Given the description of an element on the screen output the (x, y) to click on. 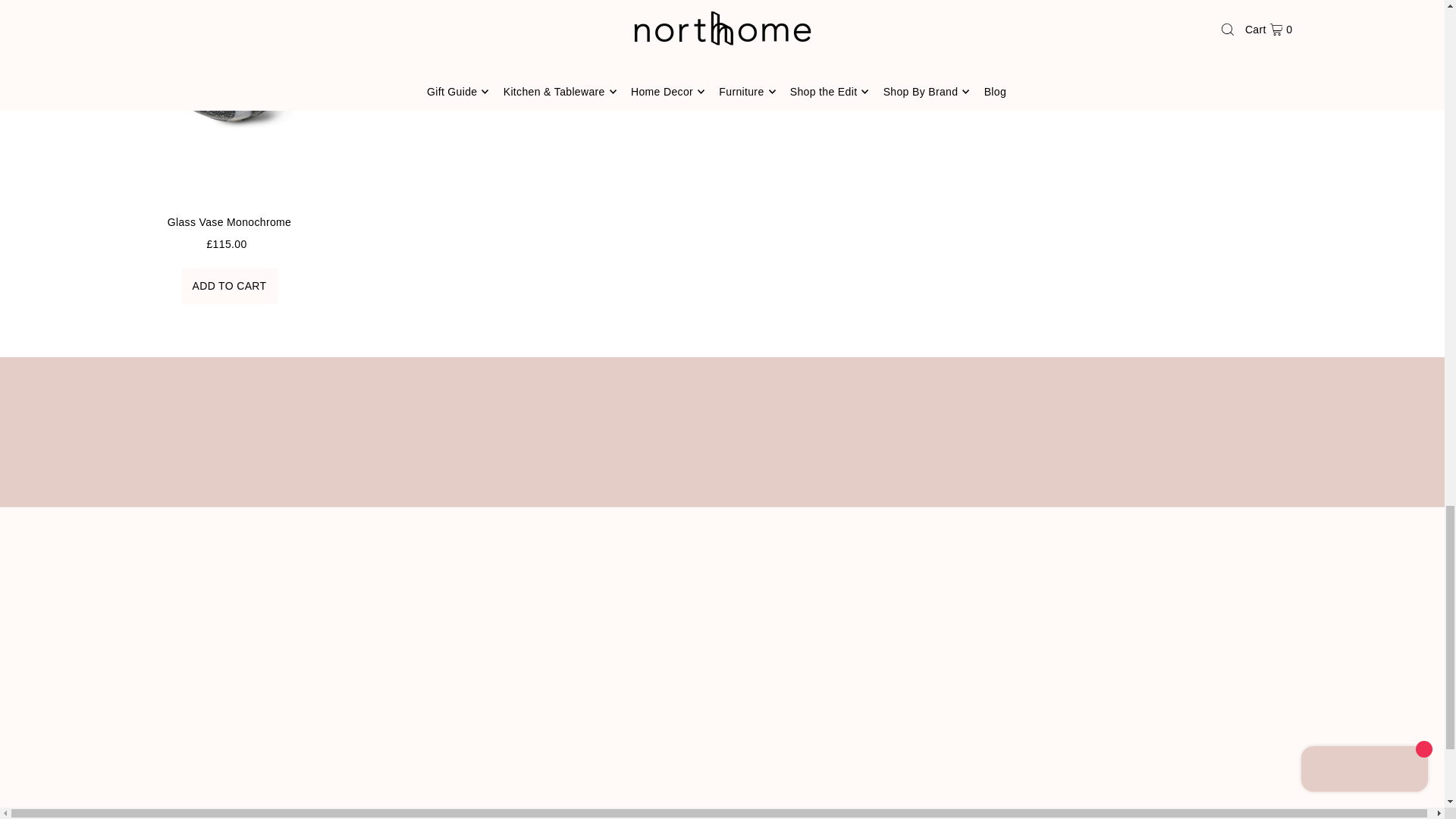
Glass Vase Monochrome (228, 102)
Add to Cart (229, 285)
